Given the description of an element on the screen output the (x, y) to click on. 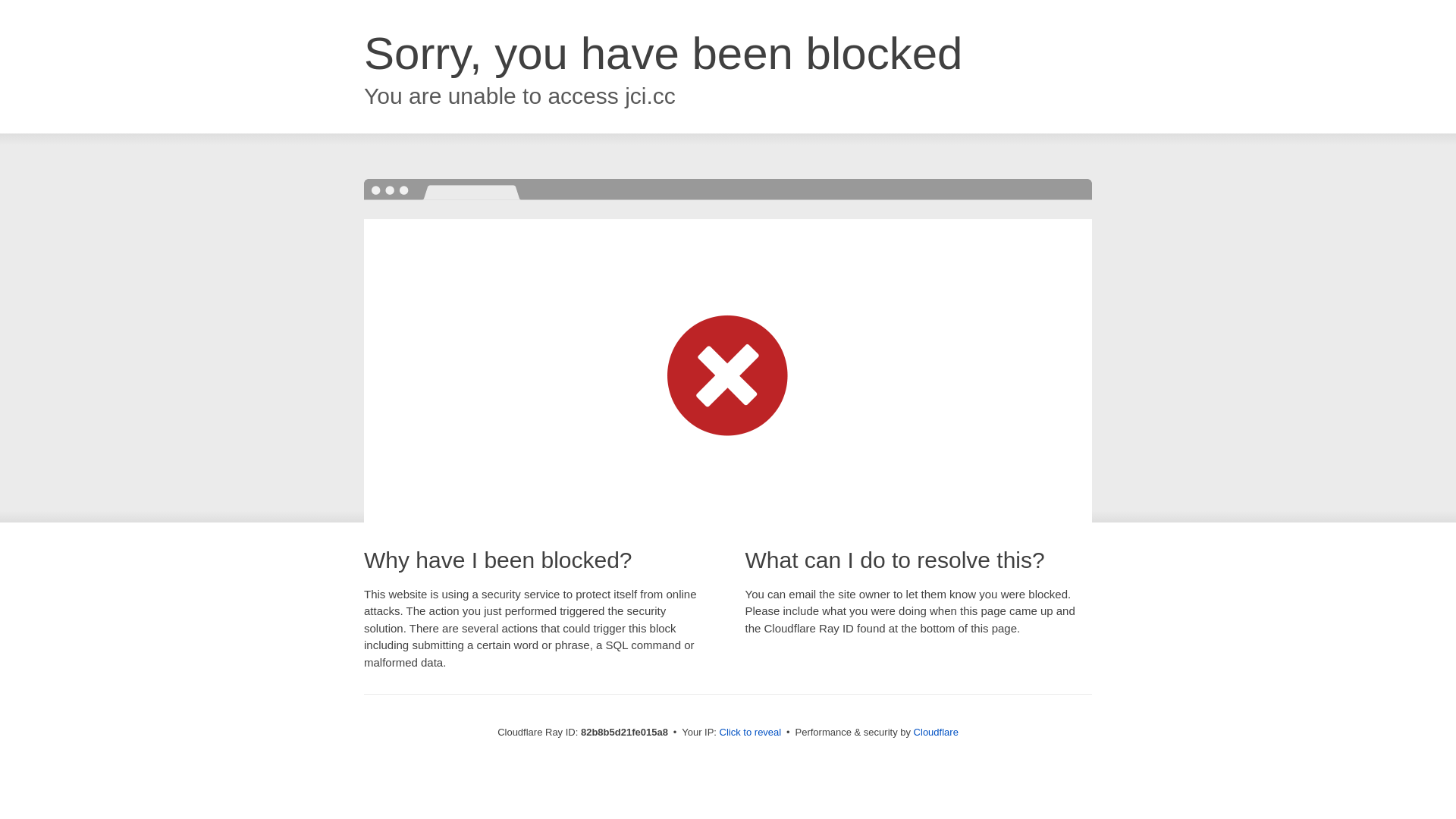
Click to reveal Element type: text (750, 732)
Cloudflare Element type: text (935, 731)
